Given the description of an element on the screen output the (x, y) to click on. 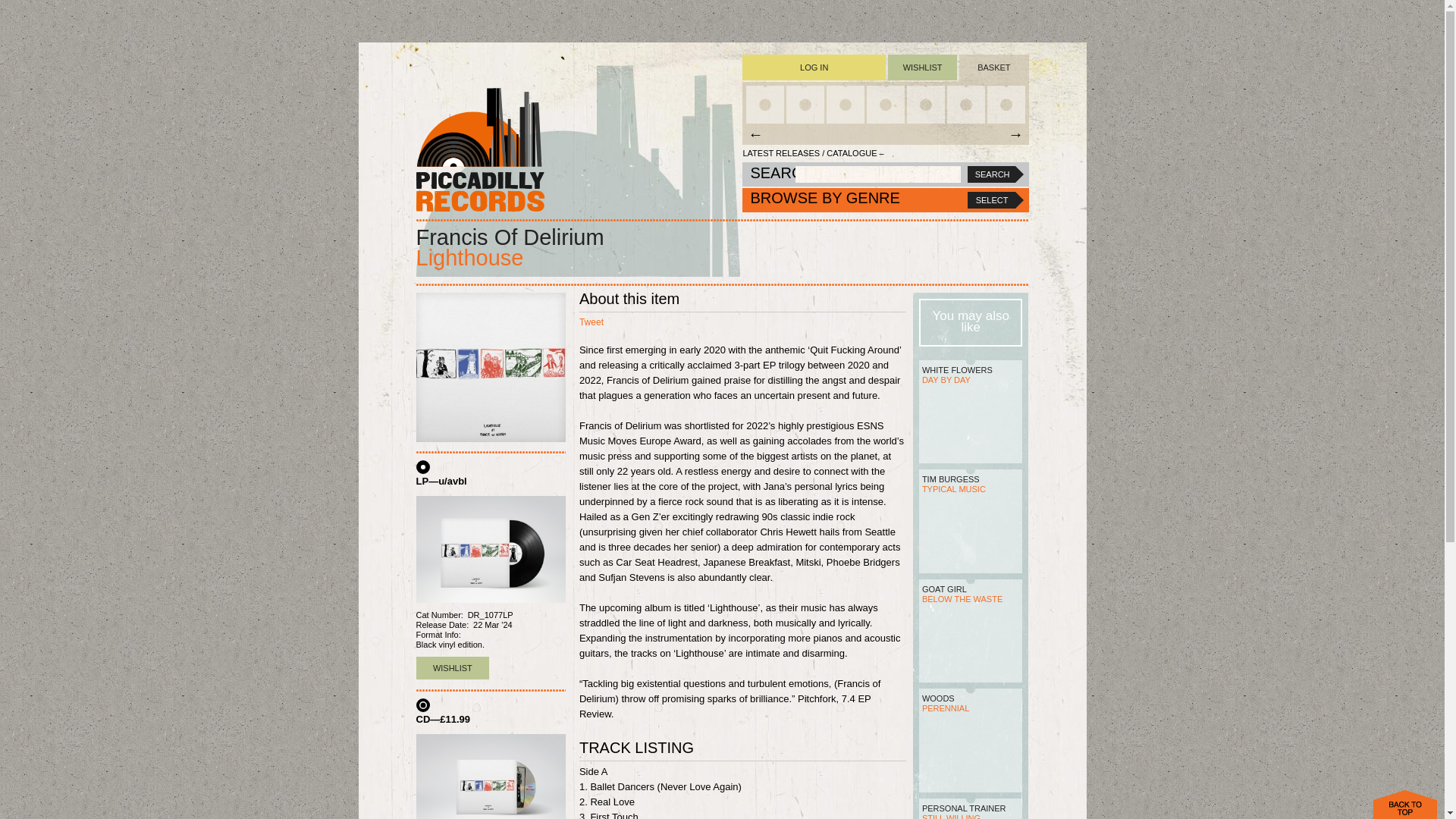
Francis Of Delirium (509, 237)
WISHLIST (451, 667)
Search for other items by Francis Of Delirium (509, 237)
Tweet (591, 321)
Piccadilly Records (478, 149)
